Given the description of an element on the screen output the (x, y) to click on. 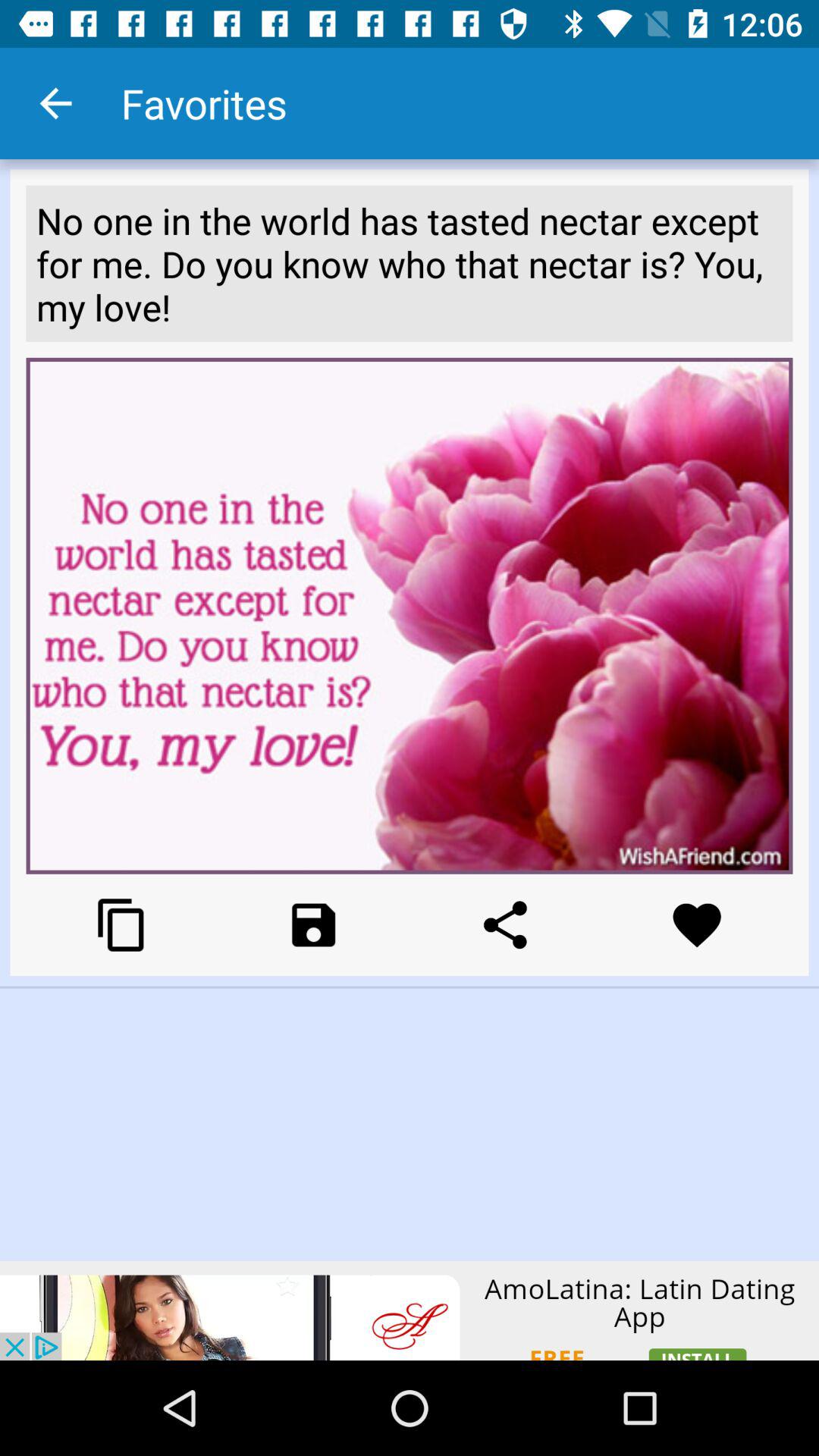
love settings (696, 925)
